Given the description of an element on the screen output the (x, y) to click on. 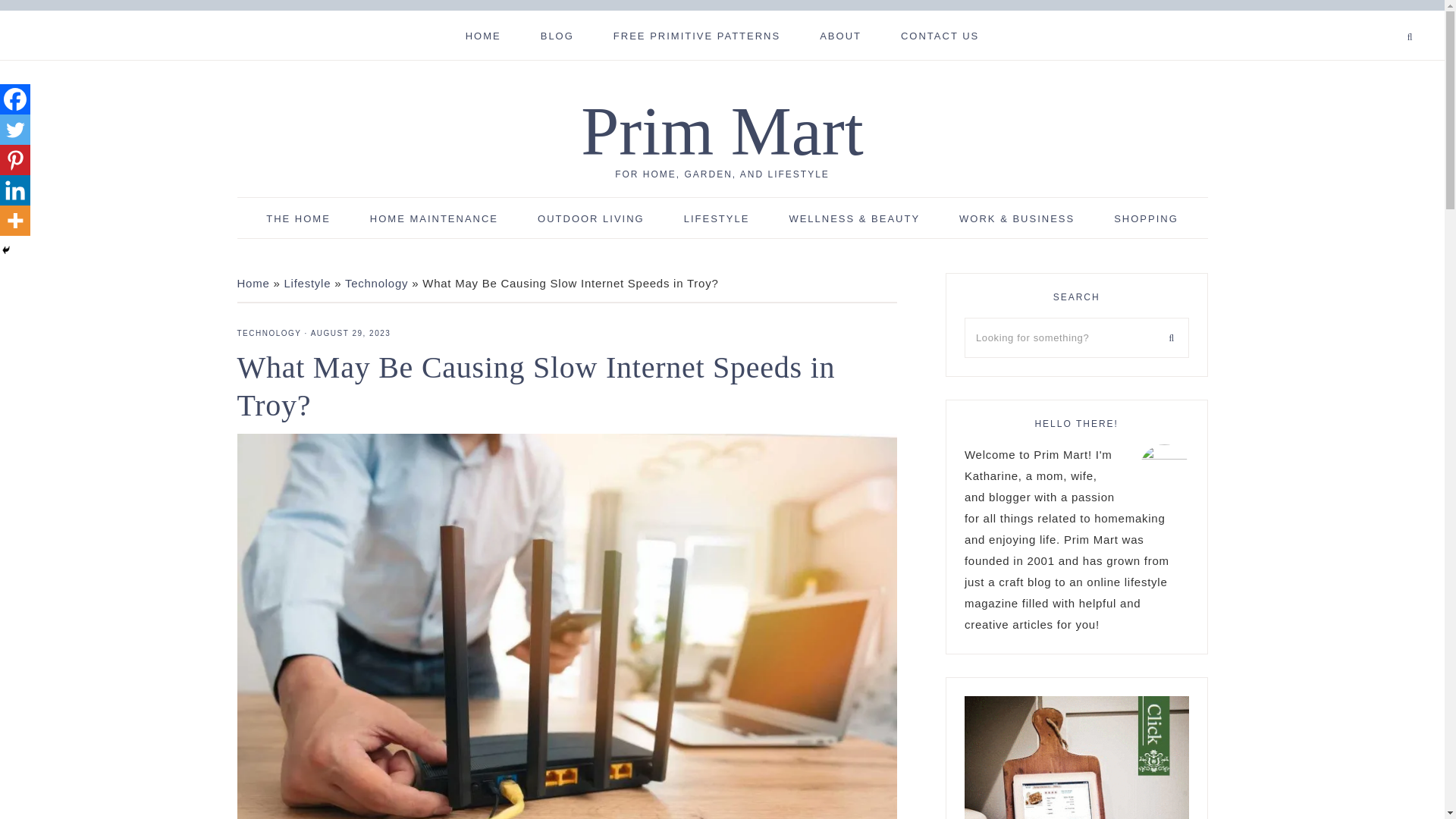
More (15, 220)
Hide (5, 250)
Prim Mart (721, 131)
HOME (483, 34)
THE HOME (298, 217)
Linkedin (15, 190)
OUTDOOR LIVING (590, 217)
BLOG (557, 34)
FREE PRIMITIVE PATTERNS (696, 34)
Twitter (15, 129)
CONTACT US (939, 34)
ABOUT (839, 34)
Facebook (15, 99)
HOME MAINTENANCE (434, 217)
Pinterest (15, 159)
